Given the description of an element on the screen output the (x, y) to click on. 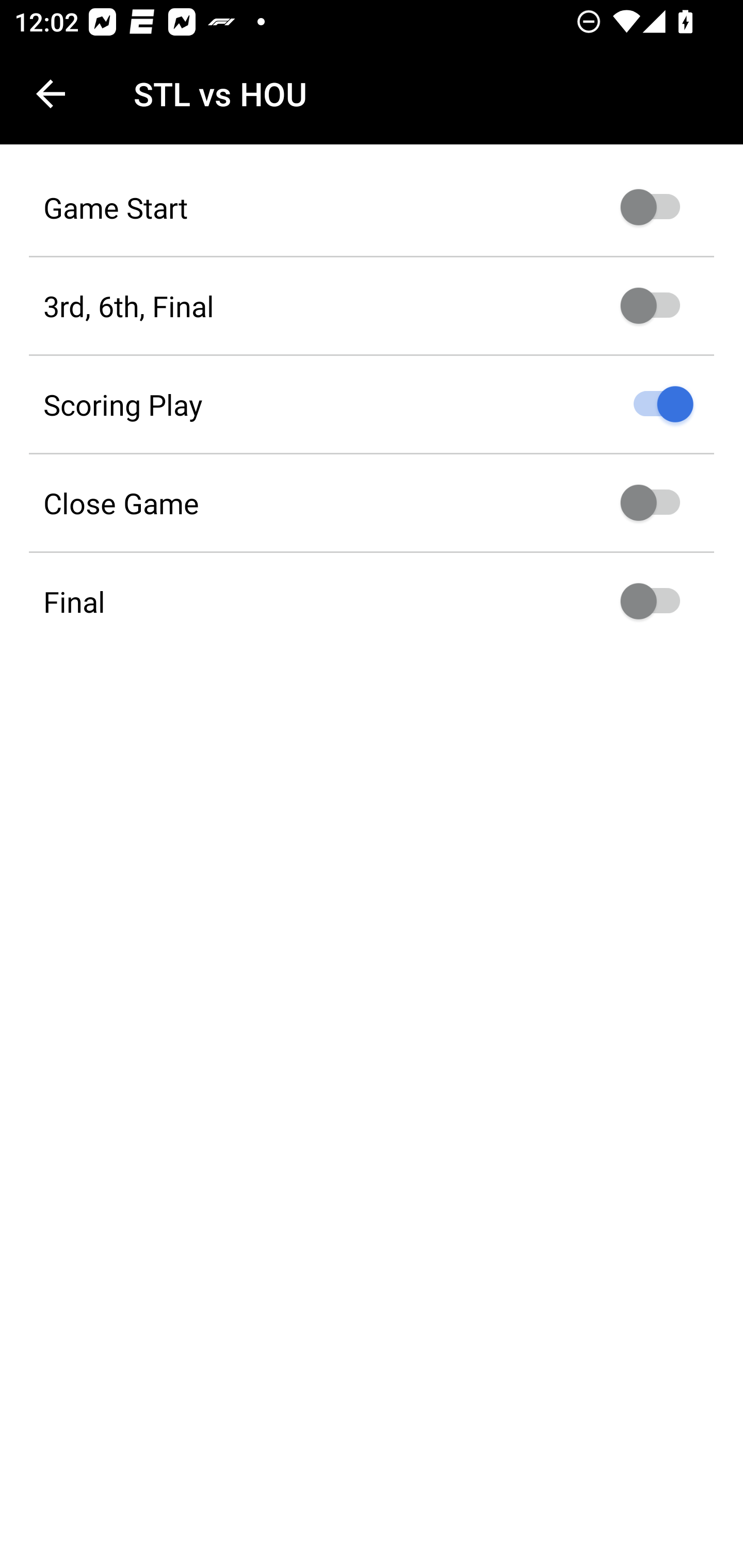
Navigate up (50, 93)
